Given the description of an element on the screen output the (x, y) to click on. 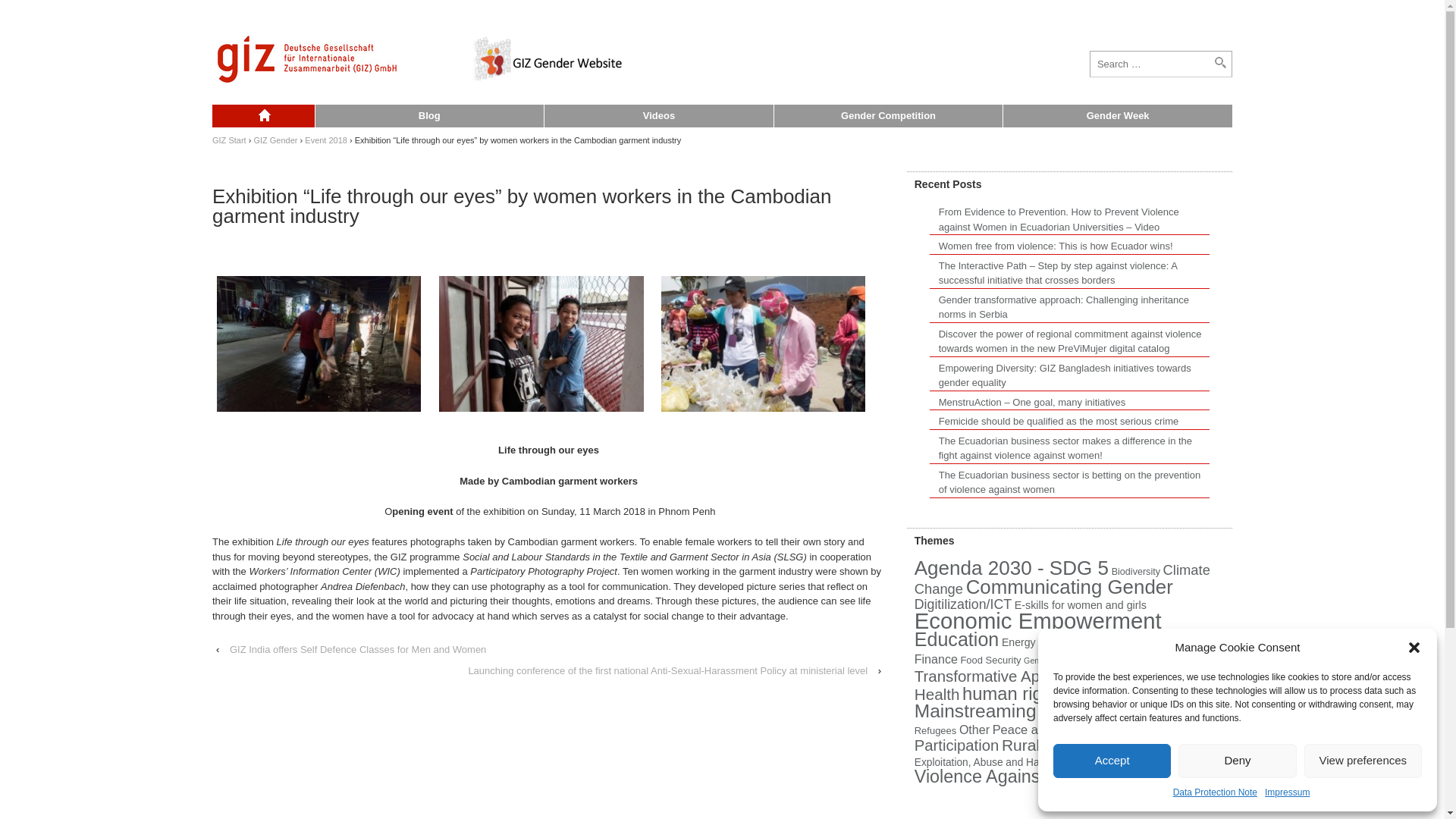
Deny (1236, 759)
GIZ Start (229, 139)
GIZ Gender Website (263, 115)
Blog (428, 115)
Data Protection Note (1215, 792)
View preferences (1363, 759)
Impressum (1286, 792)
Accept (1111, 759)
Gender Competition (888, 115)
Gender Week (1117, 115)
